Given the description of an element on the screen output the (x, y) to click on. 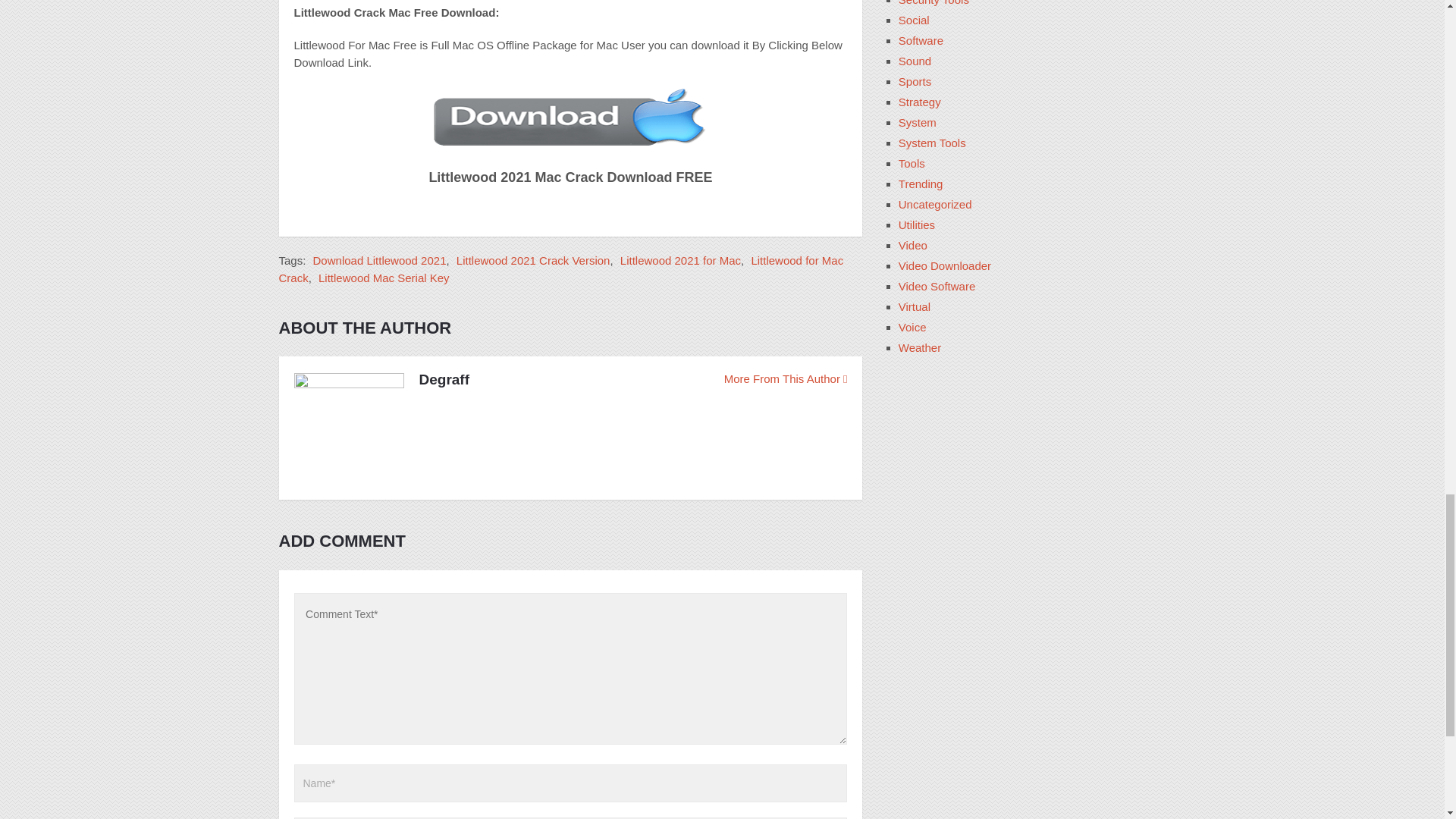
Littlewood for Mac Crack (561, 268)
Littlewood Mac Serial Key (383, 277)
Download Littlewood 2021 (379, 259)
Littlewood 2021 Crack Version (533, 259)
Littlewood 2021 for Mac (680, 259)
Degraff (443, 379)
More From This Author (785, 378)
